Given the description of an element on the screen output the (x, y) to click on. 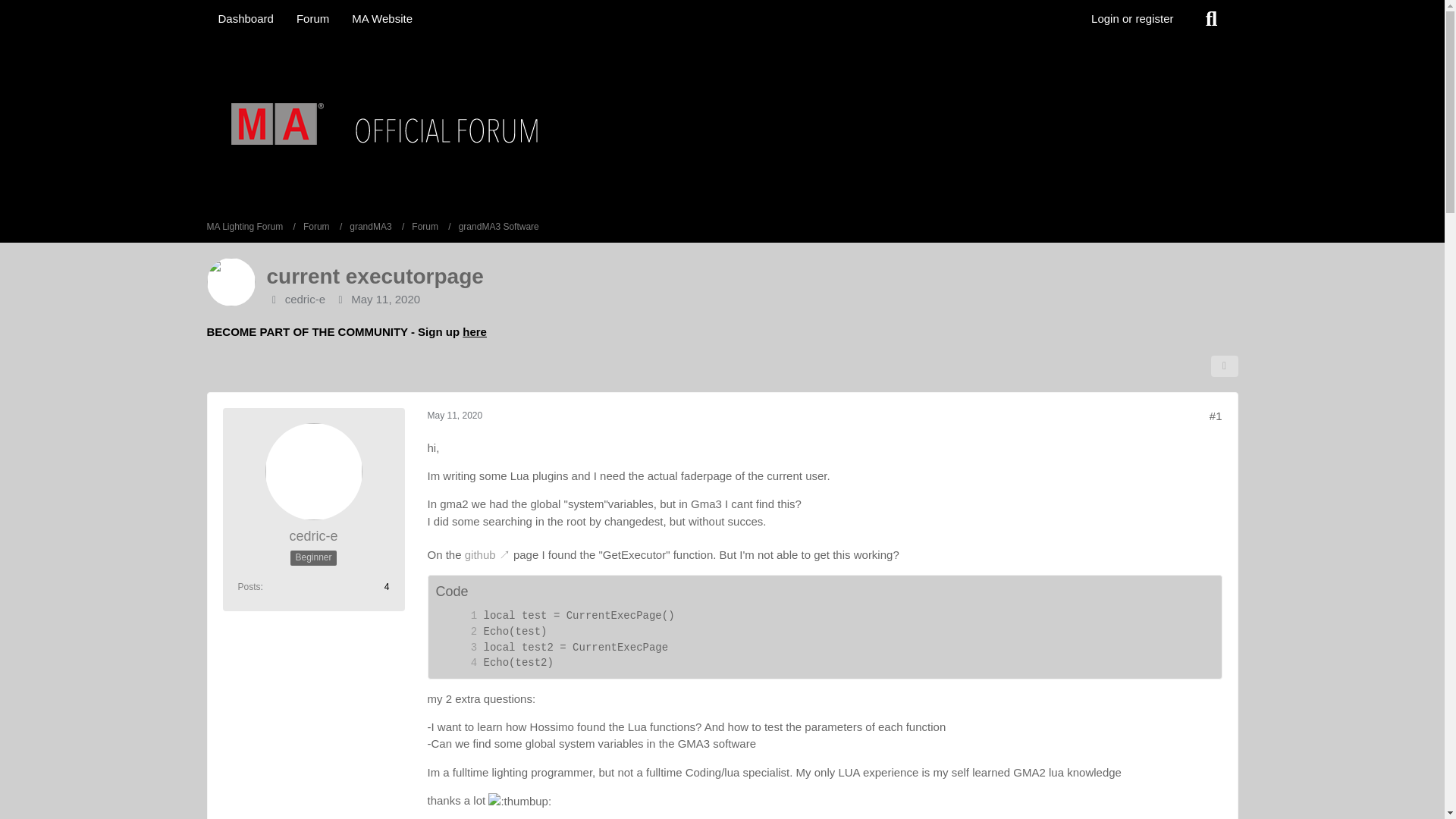
MA Website (381, 18)
grandMA3 (370, 227)
here (474, 331)
Forum (425, 227)
MA Lighting Forum (244, 227)
cedric-e (312, 536)
MA Lighting Forum (250, 227)
cedric-e (304, 298)
Login or register (1132, 18)
grandMA3 Software (498, 227)
